Given the description of an element on the screen output the (x, y) to click on. 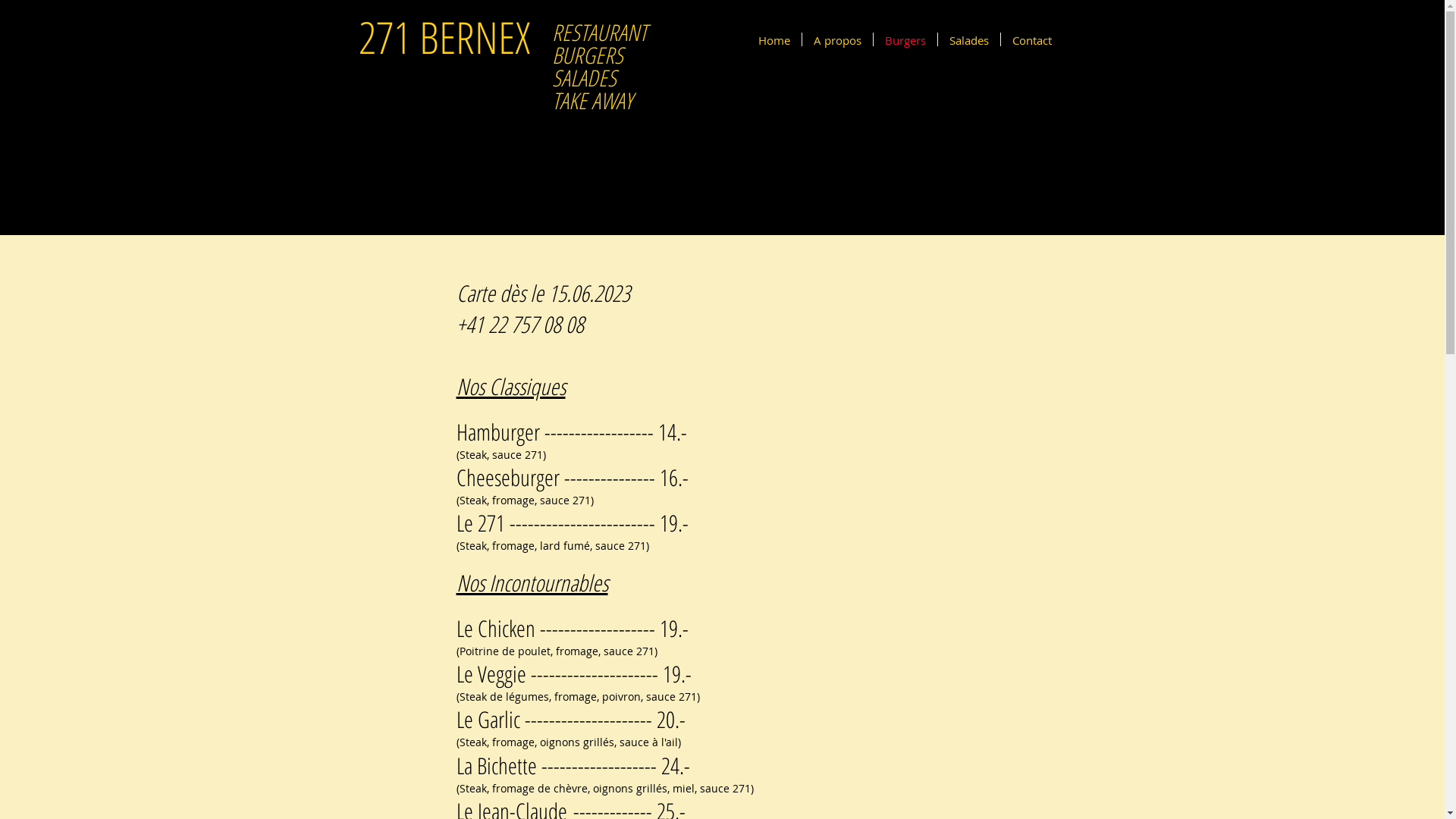
271 BERNEX Element type: text (443, 36)
RESTAURANT
BURGERS
SALADES
TAKE AWAY Element type: text (599, 66)
Contact Element type: text (1032, 39)
Home Element type: text (773, 39)
A propos Element type: text (837, 39)
Salades Element type: text (968, 39)
Burgers Element type: text (905, 39)
